Given the description of an element on the screen output the (x, y) to click on. 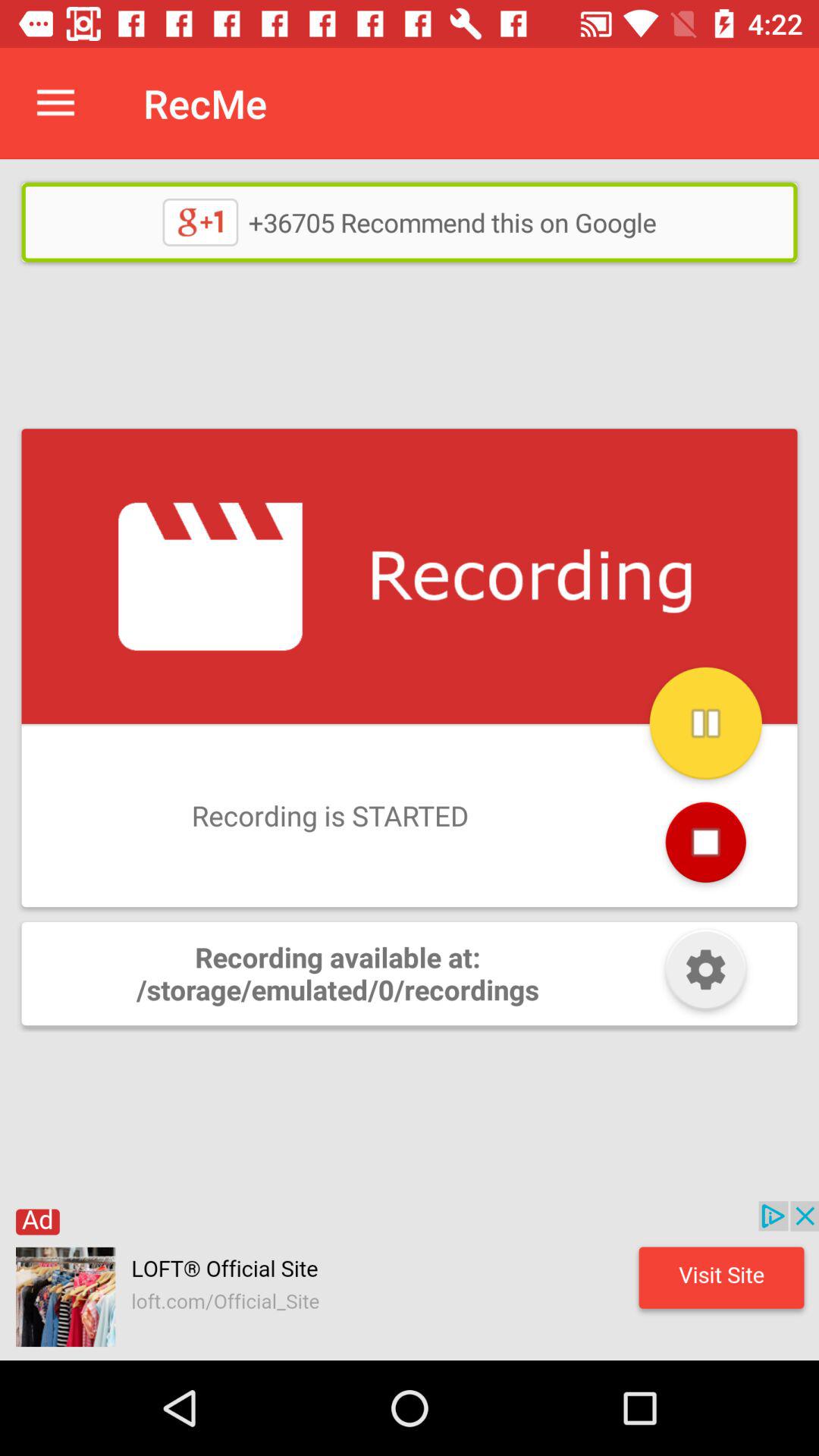
opening settings (705, 973)
